Given the description of an element on the screen output the (x, y) to click on. 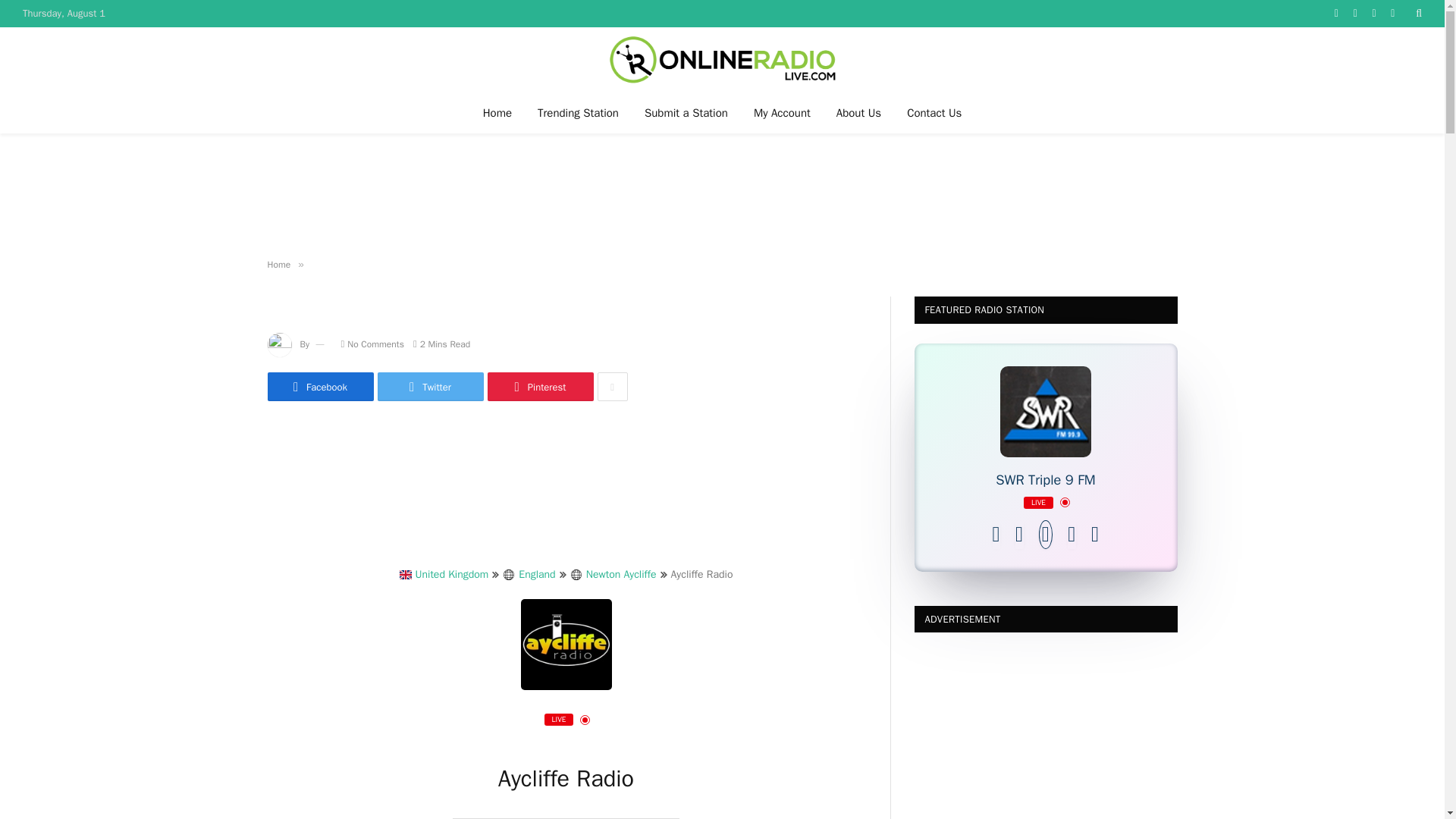
One of the best radio directories. (722, 59)
Share on Pinterest (539, 386)
Show More Social Sharing (611, 386)
Contact Us (933, 112)
Share on Facebook (319, 386)
Twitter (430, 386)
Newton Aycliffe (613, 574)
Home (497, 112)
Facebook (319, 386)
Trending Station (577, 112)
Submit a Station (686, 112)
United Kingdom (443, 574)
About Us (858, 112)
England (528, 574)
Pinterest (539, 386)
